Given the description of an element on the screen output the (x, y) to click on. 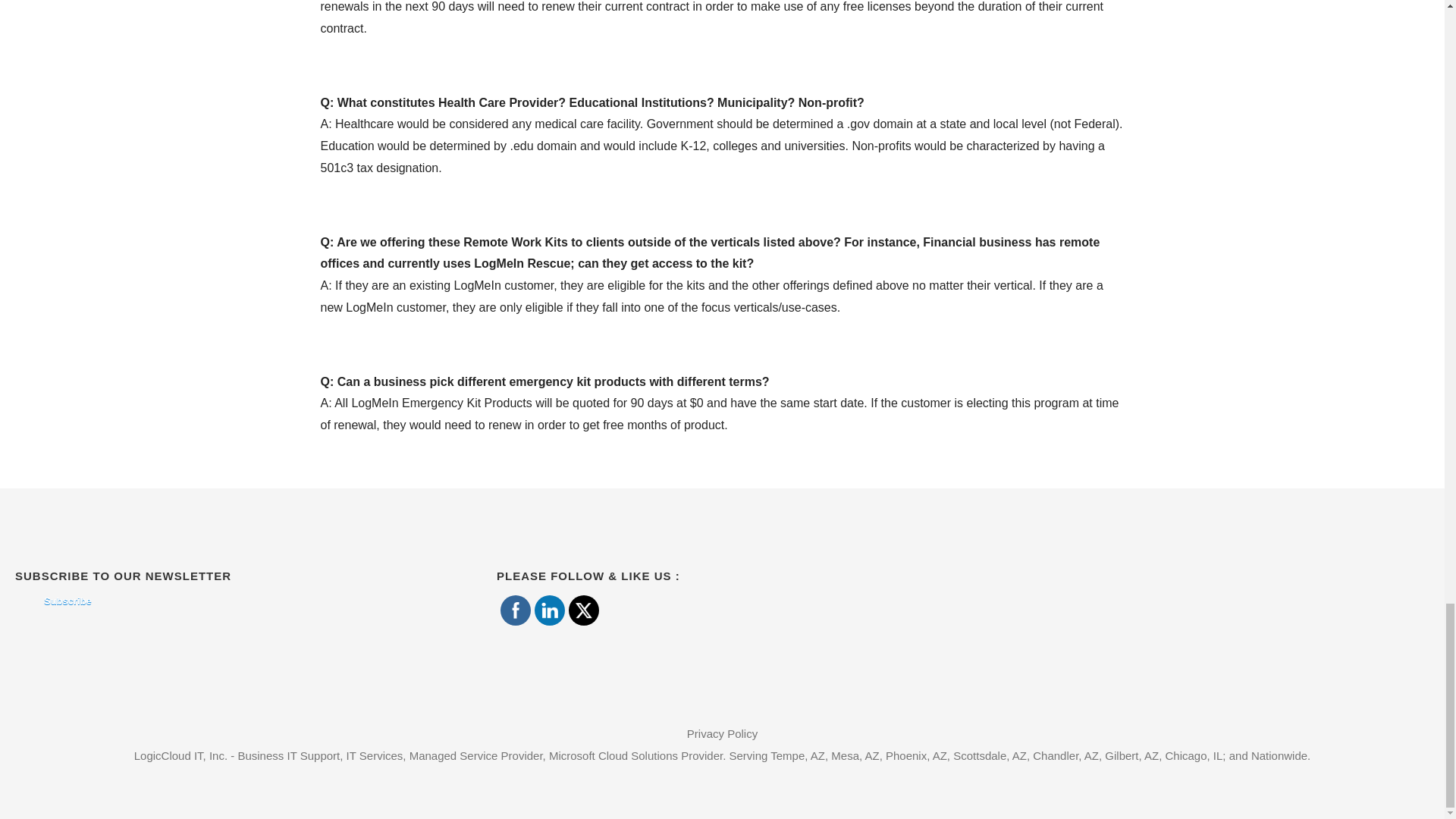
LinkedIn (549, 610)
Preview (56, 601)
Facebook (515, 610)
Twitter (583, 610)
